Given the description of an element on the screen output the (x, y) to click on. 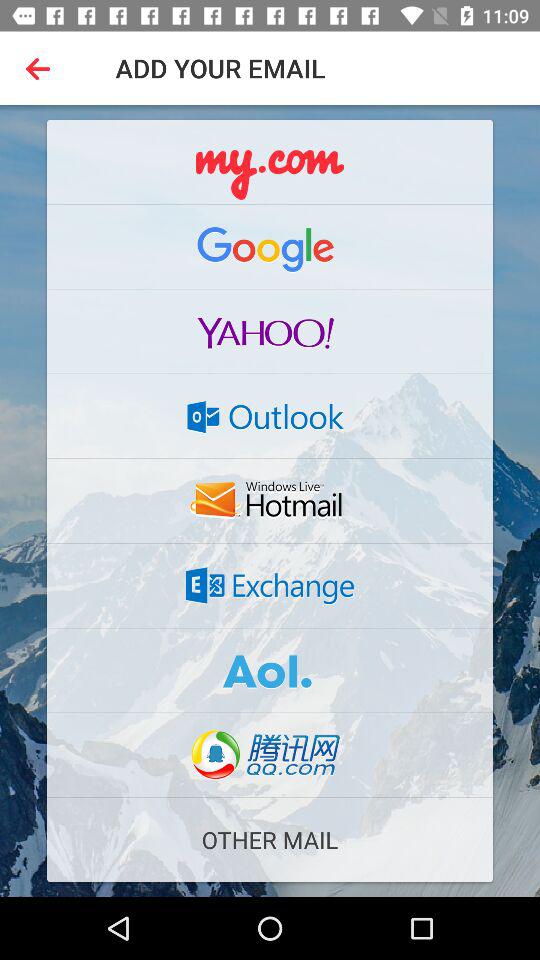
turn on app to the left of add your email (41, 68)
